Given the description of an element on the screen output the (x, y) to click on. 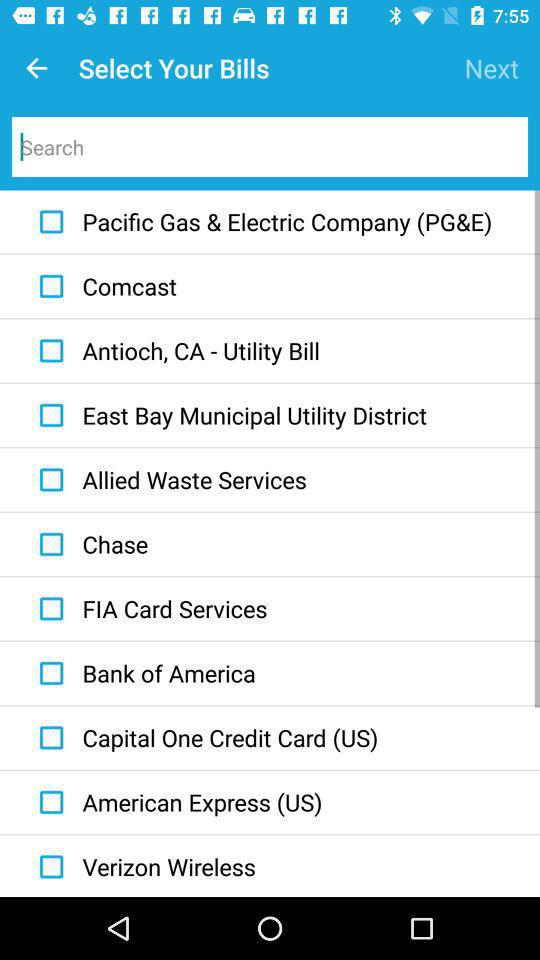
tap item below the fia card services icon (142, 673)
